Given the description of an element on the screen output the (x, y) to click on. 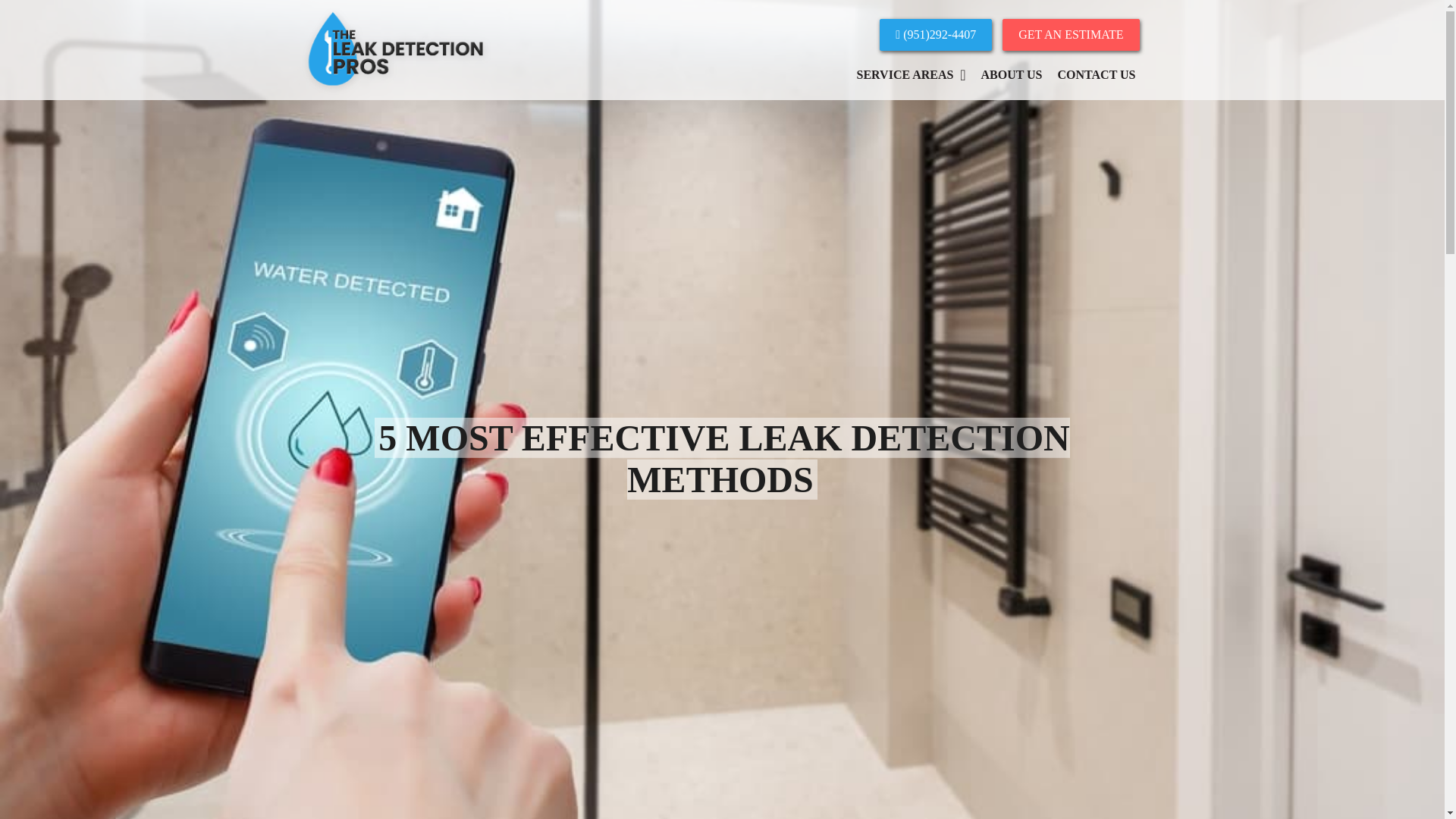
OneStop Plumbers: Slab Leak (396, 89)
CONTACT US (1096, 75)
ABOUT US (1010, 75)
SERVICE AREAS (911, 75)
GET AN ESTIMATE (1070, 34)
